Given the description of an element on the screen output the (x, y) to click on. 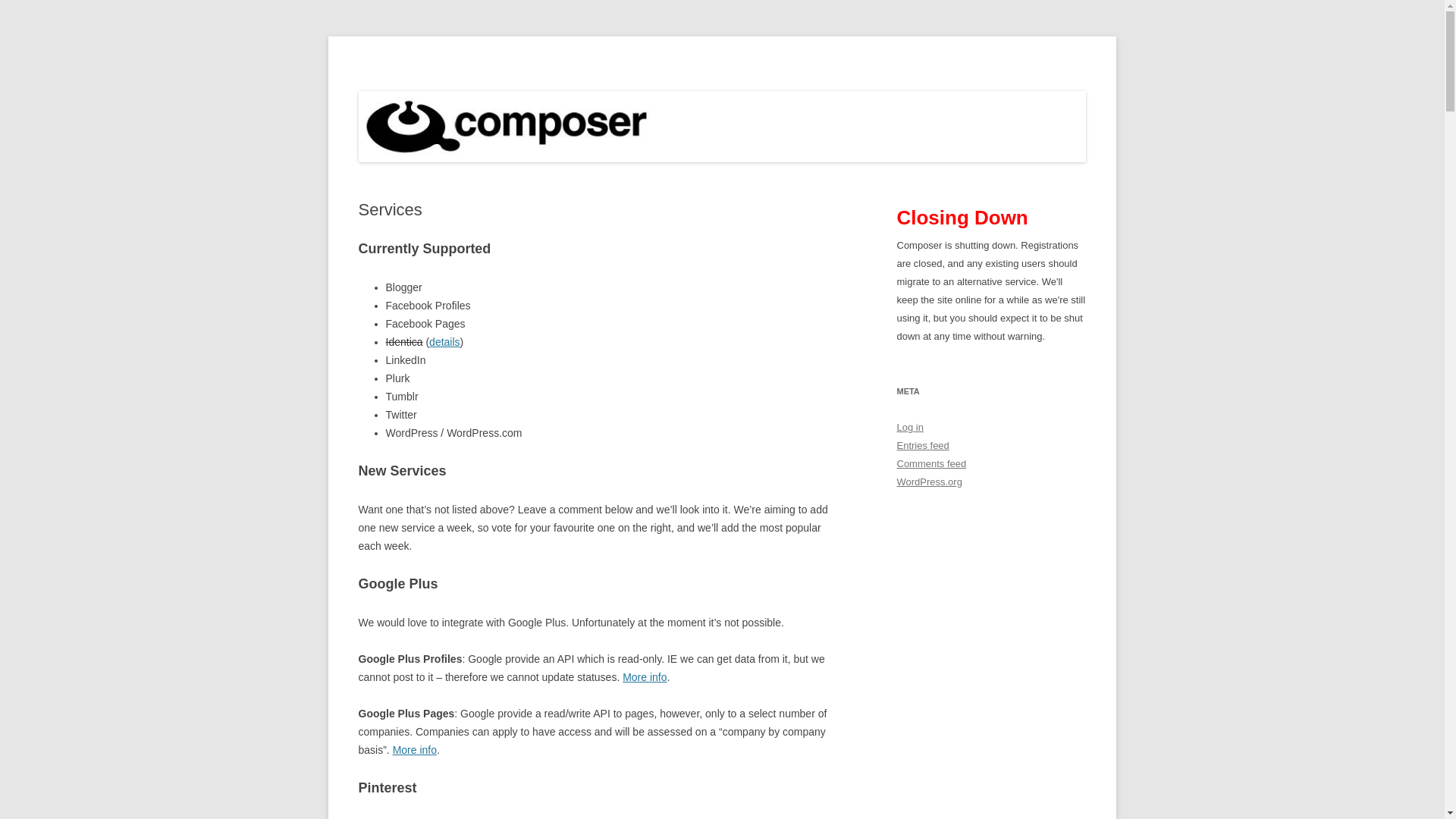
More info (414, 749)
More info (644, 676)
details (444, 341)
Identica issues (444, 341)
Composer (406, 72)
